Given the description of an element on the screen output the (x, y) to click on. 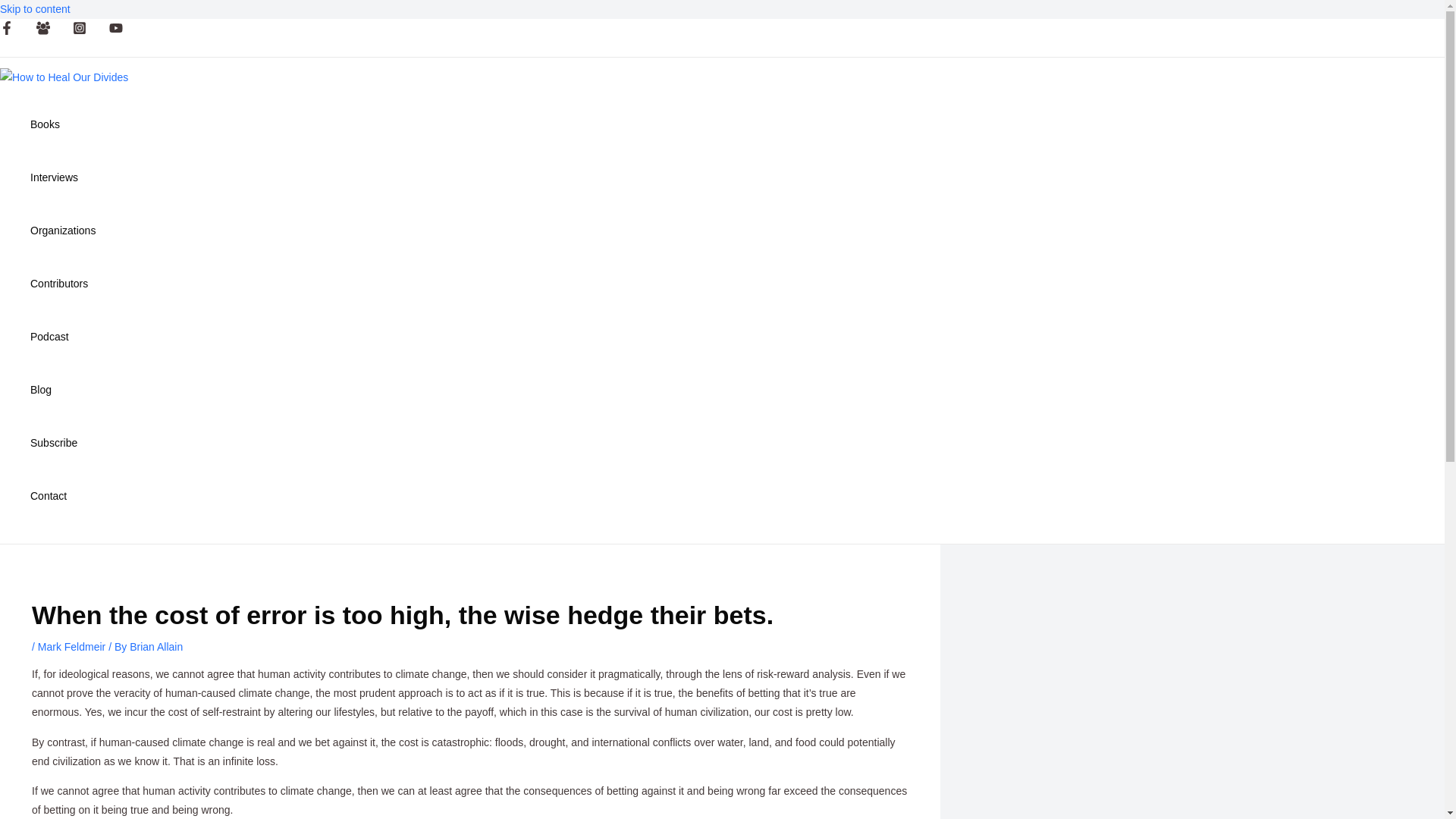
Facebook Group (42, 28)
Facebook Group (42, 30)
Skip to content (34, 9)
Skip to content (34, 9)
Blog (63, 389)
Subscribe (63, 442)
Organizations (63, 230)
Books (63, 123)
Brian Allain (156, 646)
Contact (63, 495)
Podcast (63, 336)
Contributors (63, 283)
Mark Feldmeir (70, 646)
Interviews (63, 176)
View all posts by Brian Allain (156, 646)
